Given the description of an element on the screen output the (x, y) to click on. 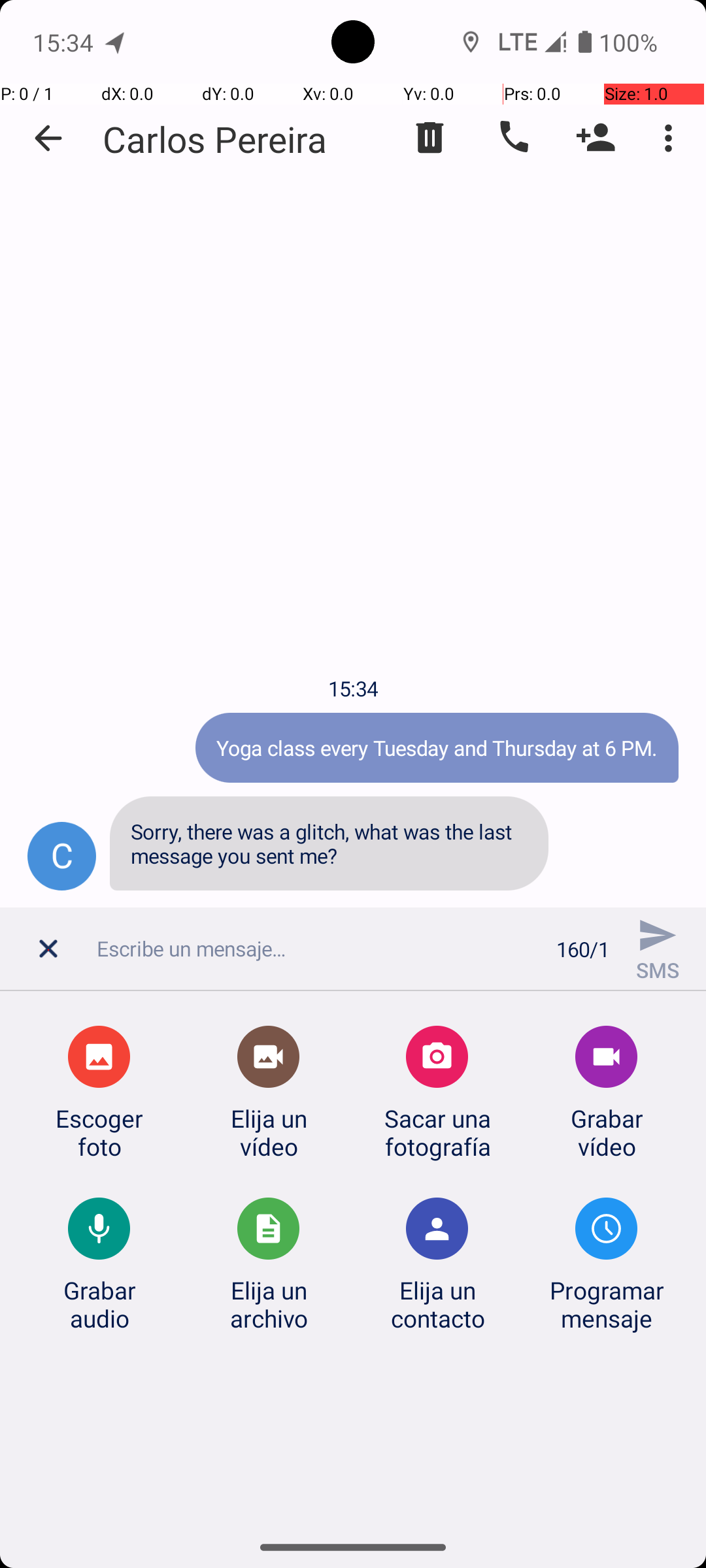
Atrás Element type: android.widget.ImageButton (48, 138)
Carlos Pereira Element type: android.widget.TextView (214, 138)
Eliminar Element type: android.widget.Button (429, 137)
Marcar número Element type: android.widget.Button (512, 137)
Añadir persona Element type: android.widget.Button (595, 137)
Archivo adjunto Element type: android.widget.ImageView (51, 955)
Escribe un mensaje… Element type: android.widget.EditText (318, 948)
Yoga class every Tuesday and Thursday at 6 PM. Element type: android.widget.TextView (436, 747)
Escoger foto Element type: android.widget.TextView (98, 1131)
Elija un vídeo Element type: android.widget.TextView (268, 1131)
Sacar una fotografía Element type: android.widget.TextView (436, 1131)
Grabar vídeo Element type: android.widget.TextView (606, 1131)
Grabar audio Element type: android.widget.TextView (98, 1303)
Elija un archivo Element type: android.widget.TextView (268, 1303)
Elija un contacto Element type: android.widget.TextView (436, 1303)
Programar mensaje Element type: android.widget.TextView (606, 1303)
